Given the description of an element on the screen output the (x, y) to click on. 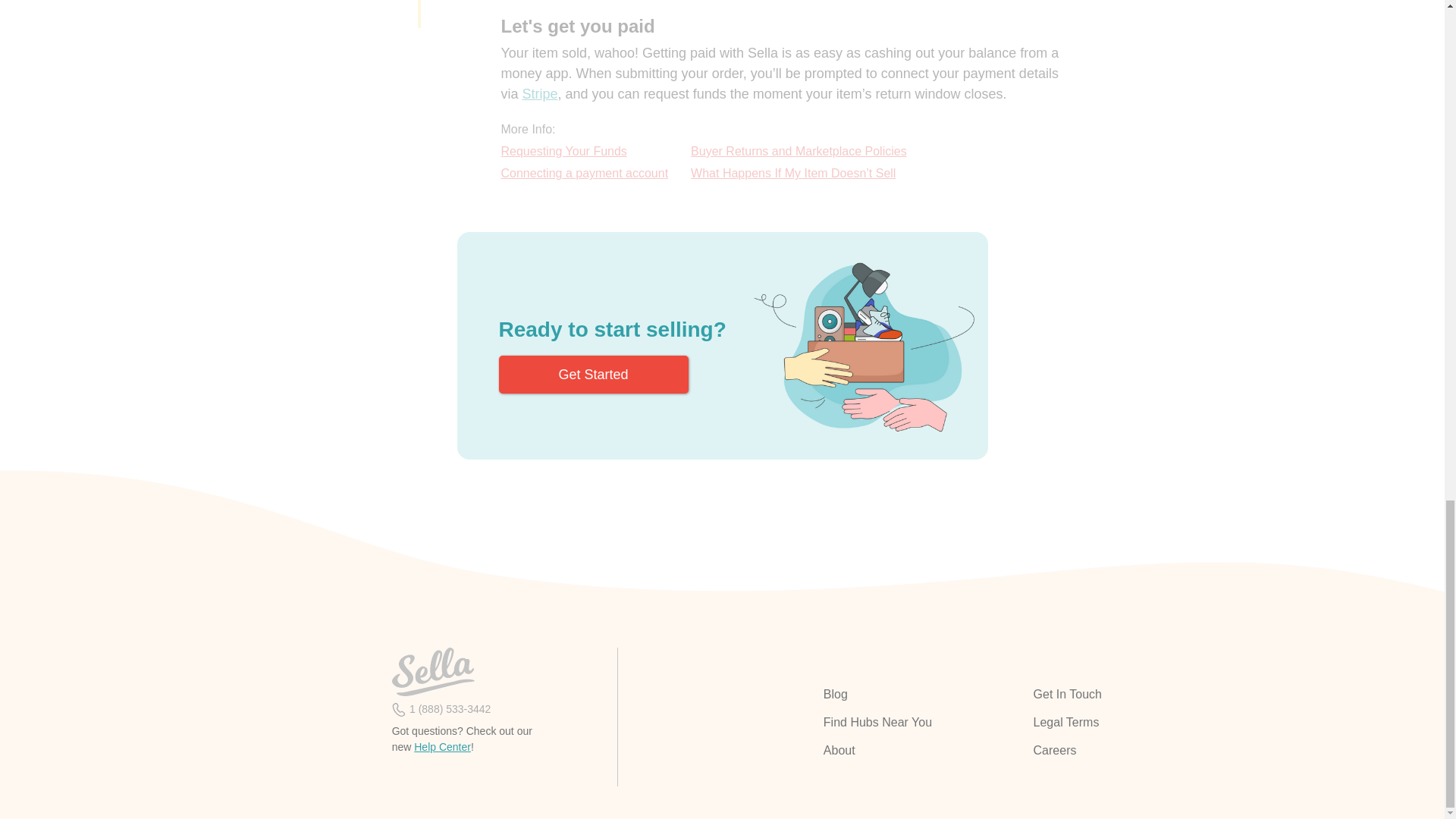
Blog (920, 694)
Get In Touch (1130, 694)
Careers (1130, 751)
Requesting Your Funds (584, 151)
Help Center (441, 746)
Buyer Returns and Marketplace Policies (798, 151)
Connecting a payment account (584, 173)
Get Started (593, 374)
Legal Terms (1130, 722)
About (920, 751)
Find Hubs Near You (920, 722)
Stripe (539, 93)
